Given the description of an element on the screen output the (x, y) to click on. 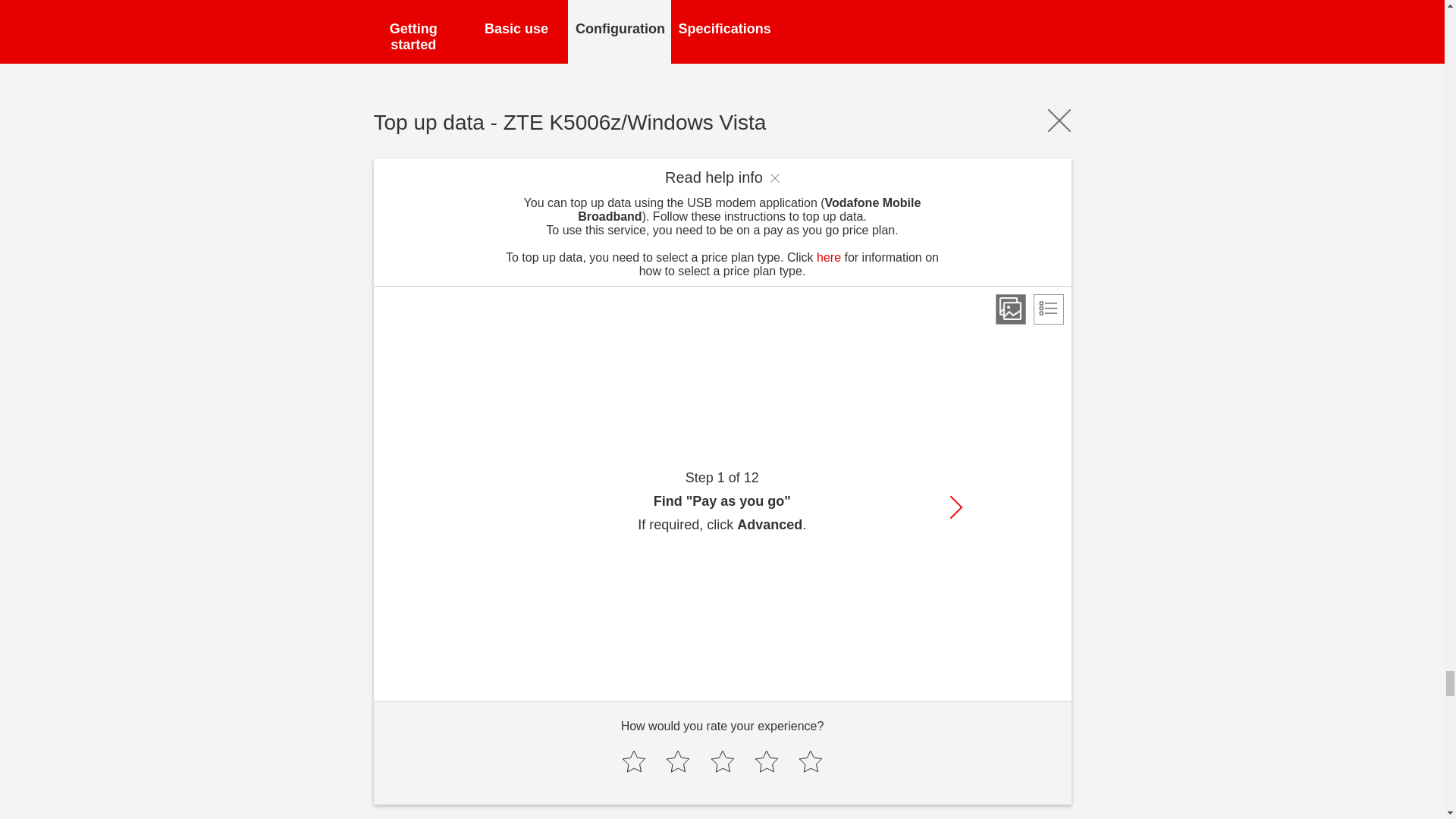
here (828, 256)
Configuration (619, 31)
Getting started (413, 31)
Basic use (515, 31)
Specifications (722, 31)
